Given the description of an element on the screen output the (x, y) to click on. 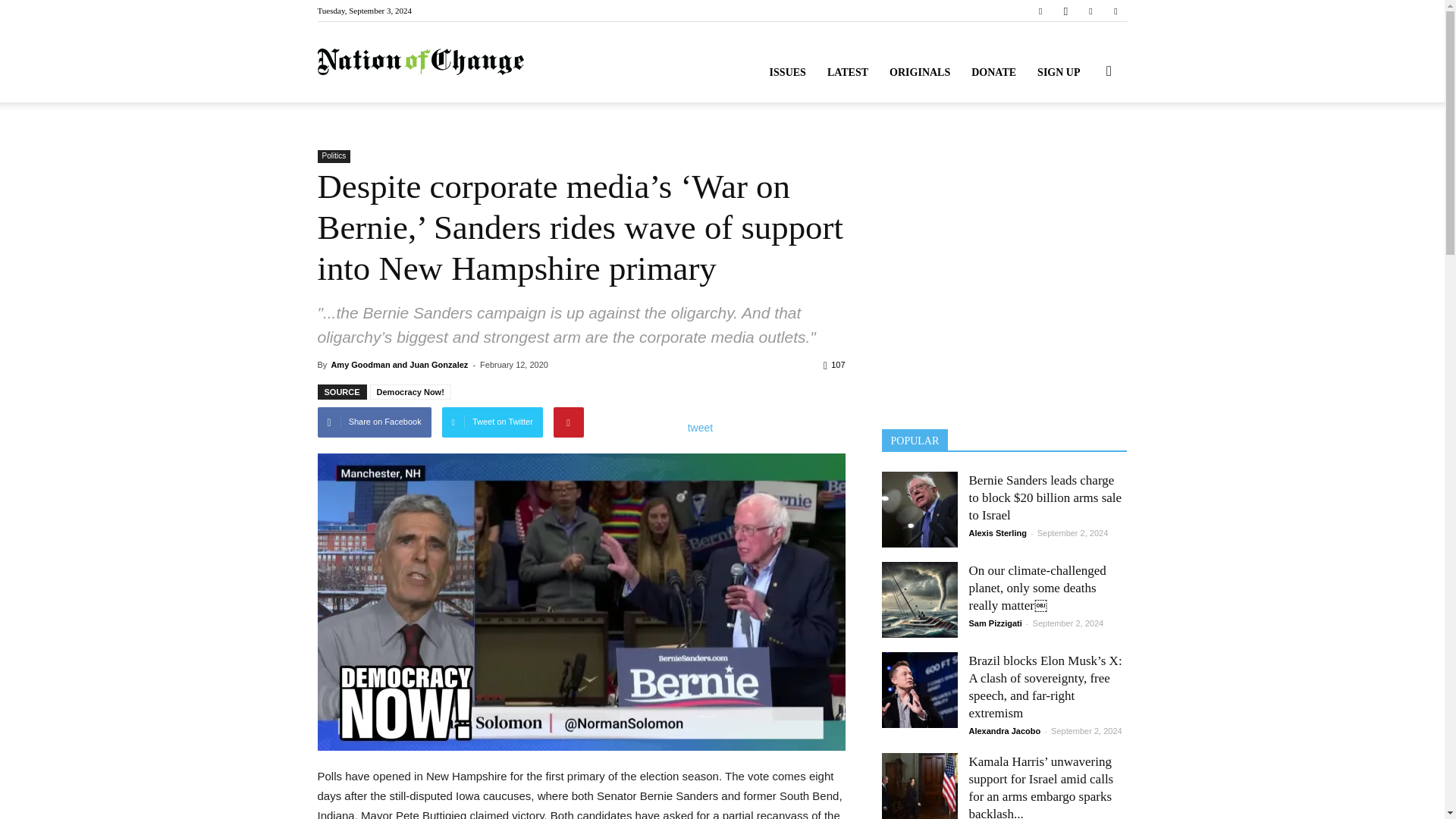
NationofChange (419, 61)
Instagram (1065, 10)
Youtube (1114, 10)
Twitter (1090, 10)
ISSUES (787, 72)
Facebook (1040, 10)
